Given the description of an element on the screen output the (x, y) to click on. 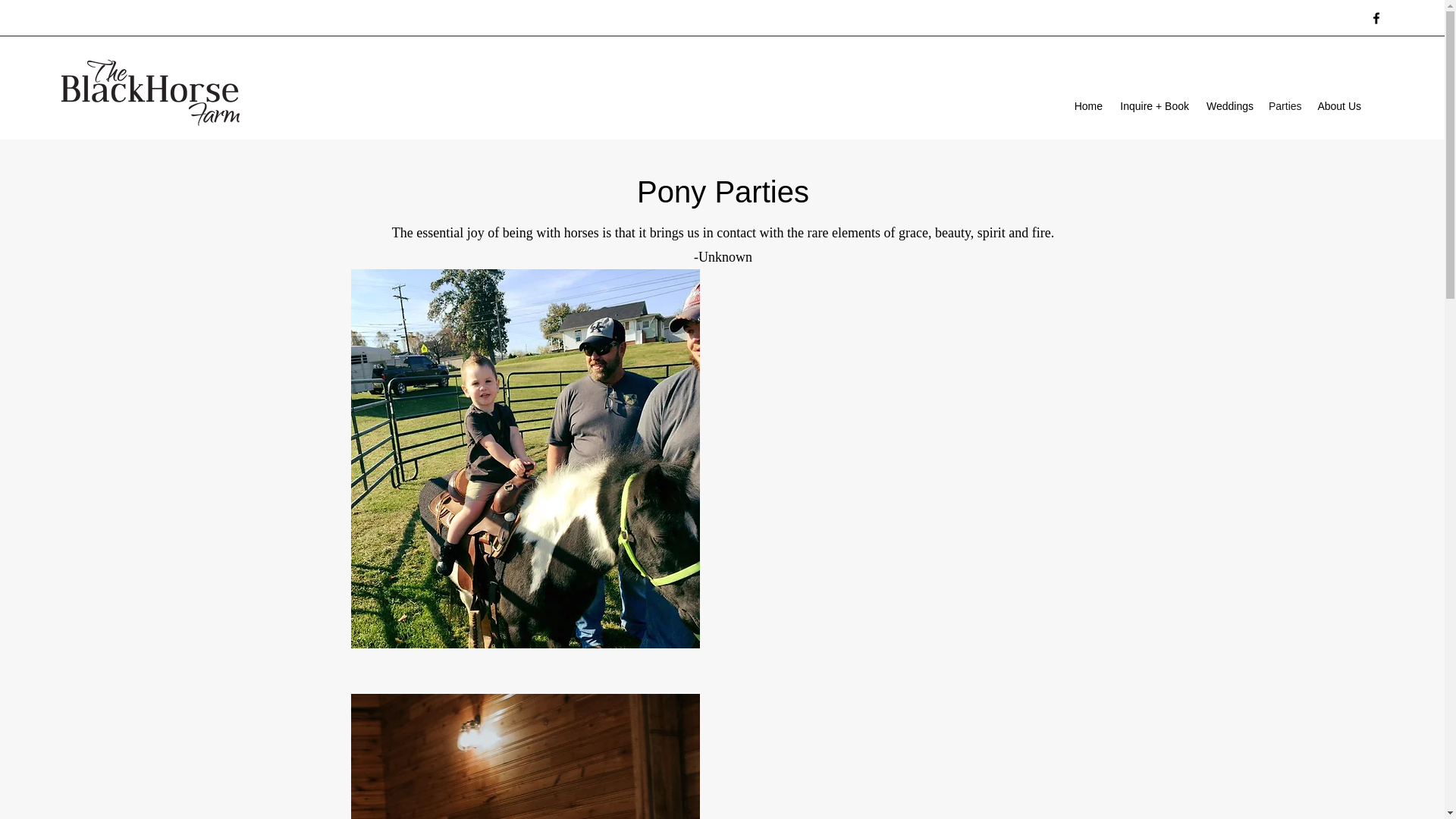
Home (1087, 106)
About Us (1337, 106)
Parties (1283, 106)
Weddings (1228, 106)
